Given the description of an element on the screen output the (x, y) to click on. 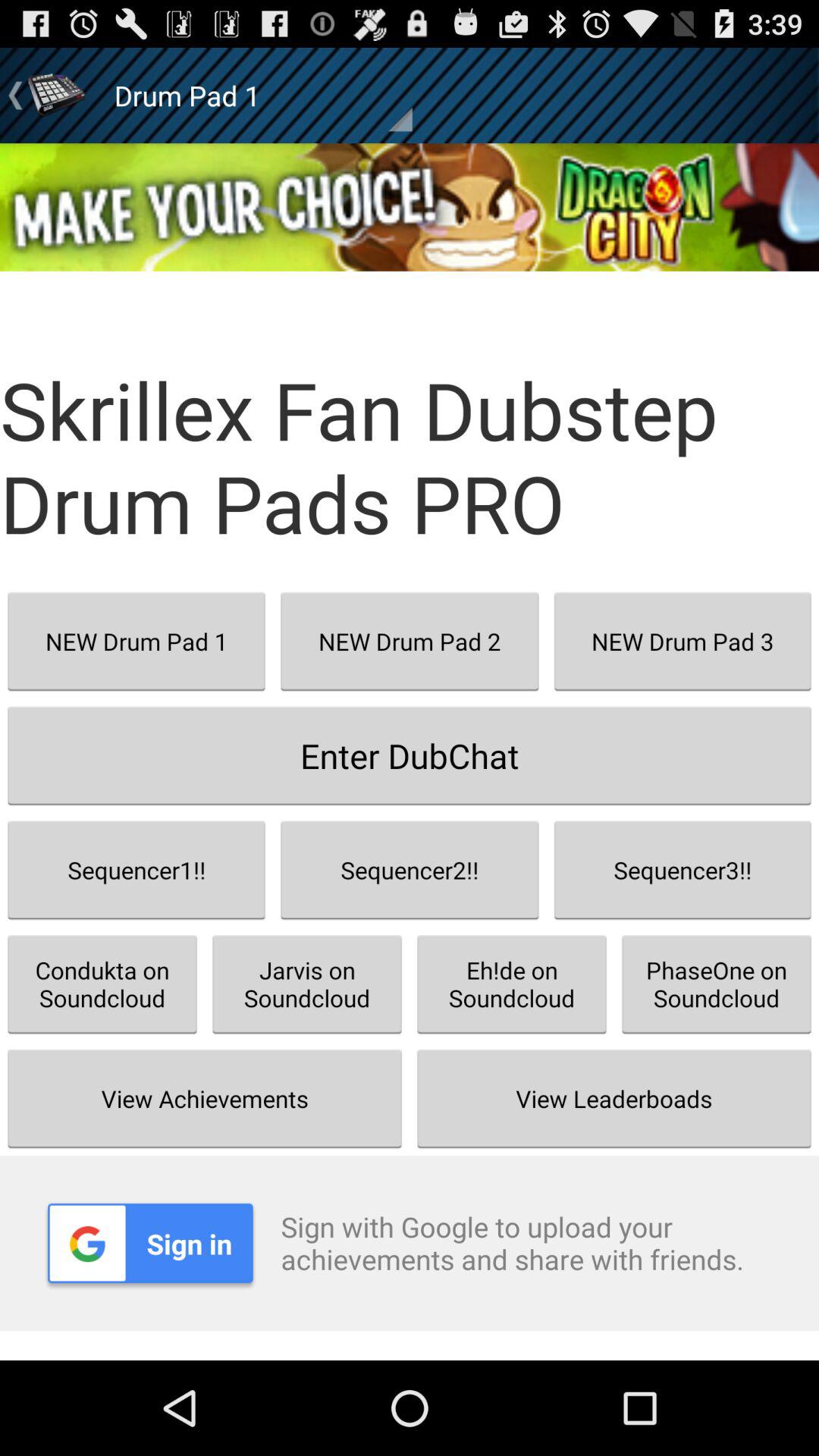
the add for game (409, 207)
